Given the description of an element on the screen output the (x, y) to click on. 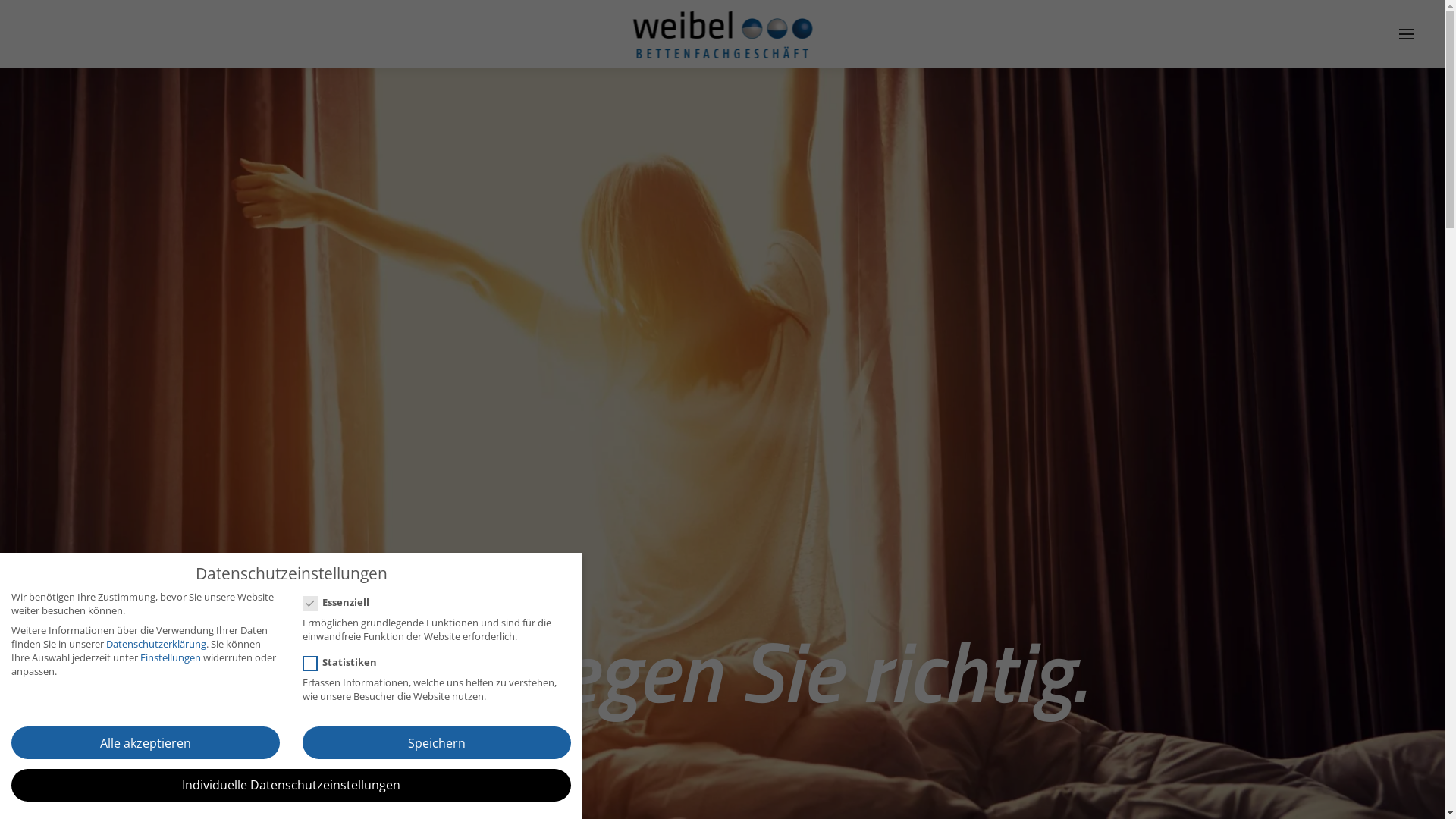
Speichern Element type: text (436, 742)
Einstellungen Element type: text (170, 657)
Alle akzeptieren Element type: text (145, 742)
Individuelle Datenschutzeinstellungen Element type: text (291, 784)
